Given the description of an element on the screen output the (x, y) to click on. 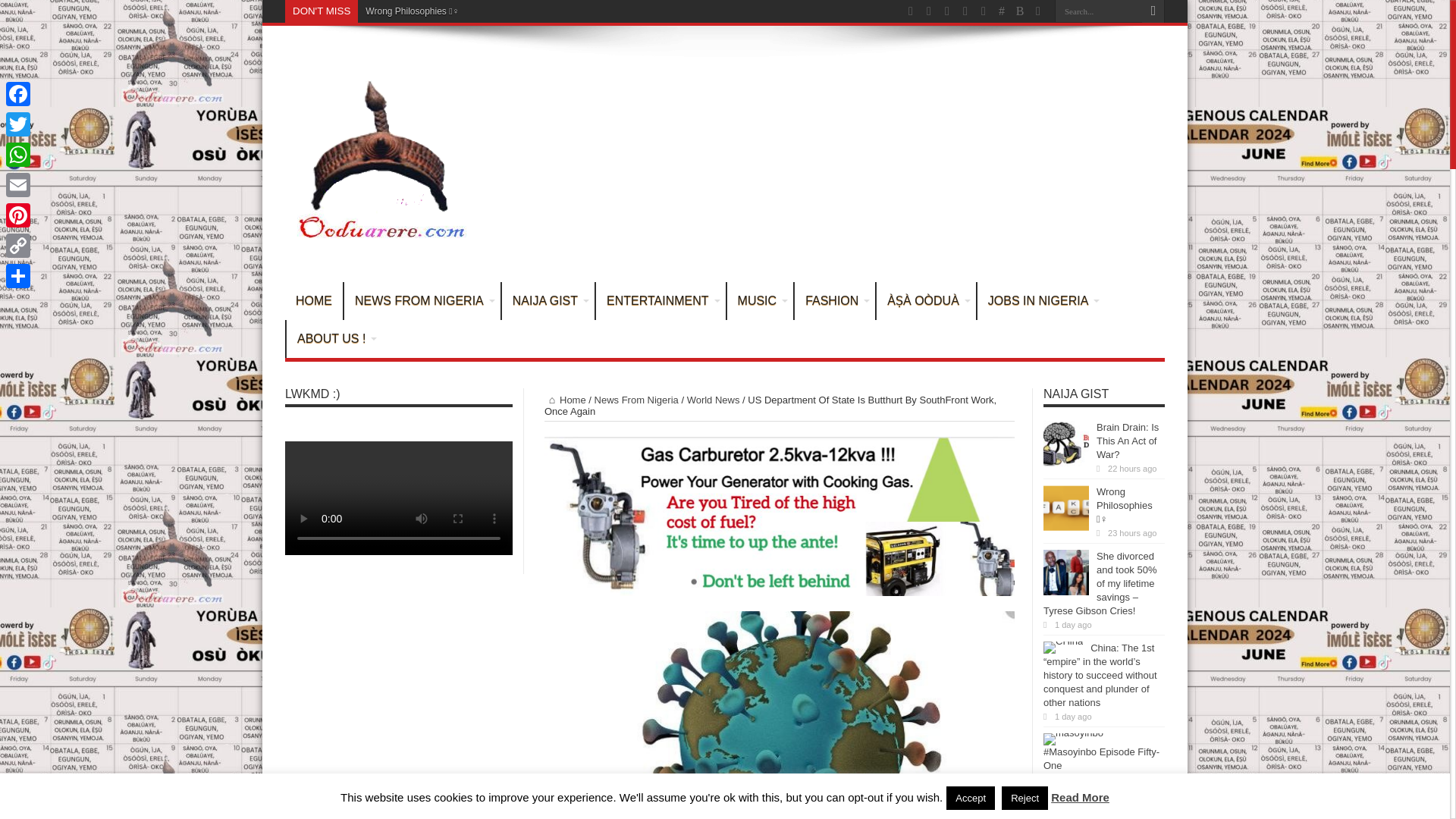
Search (1152, 11)
HOME (313, 300)
NEWS FROM NIGERIA (421, 300)
FASHION (834, 300)
ENTERTAINMENT (660, 300)
JOBS IN NIGERIA (1040, 300)
Search... (1097, 11)
MUSIC (759, 300)
NAIJA GIST (547, 300)
